Given the description of an element on the screen output the (x, y) to click on. 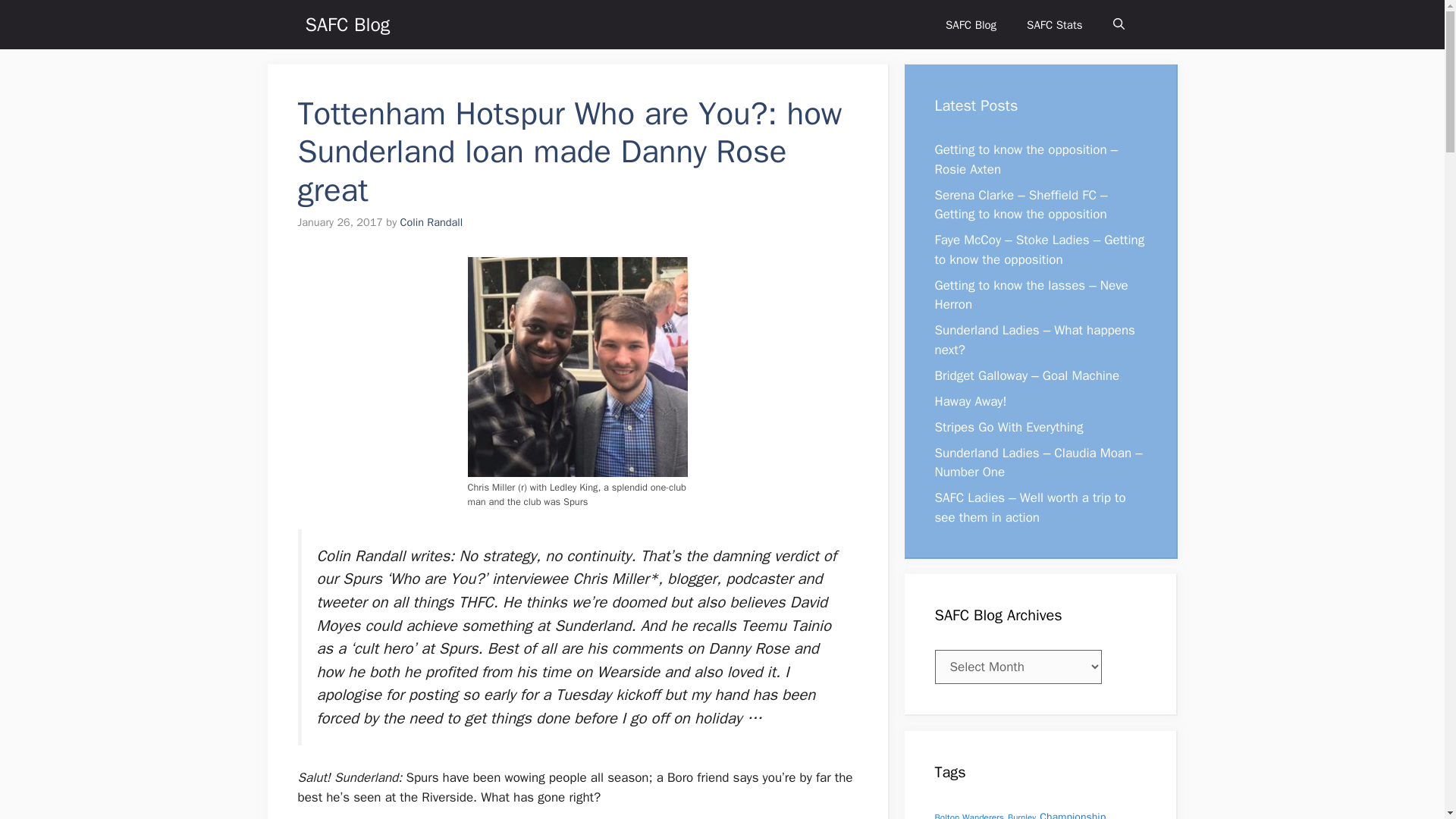
Burnley (1021, 815)
Stripes Go With Everything (1008, 426)
Haway Away! (970, 400)
SAFC Stats (1054, 23)
View all posts by Colin Randall (431, 222)
SAFC Blog (347, 24)
Bolton Wanderers (968, 815)
Colin Randall (431, 222)
Championship (1072, 814)
SAFC Blog (970, 23)
